Given the description of an element on the screen output the (x, y) to click on. 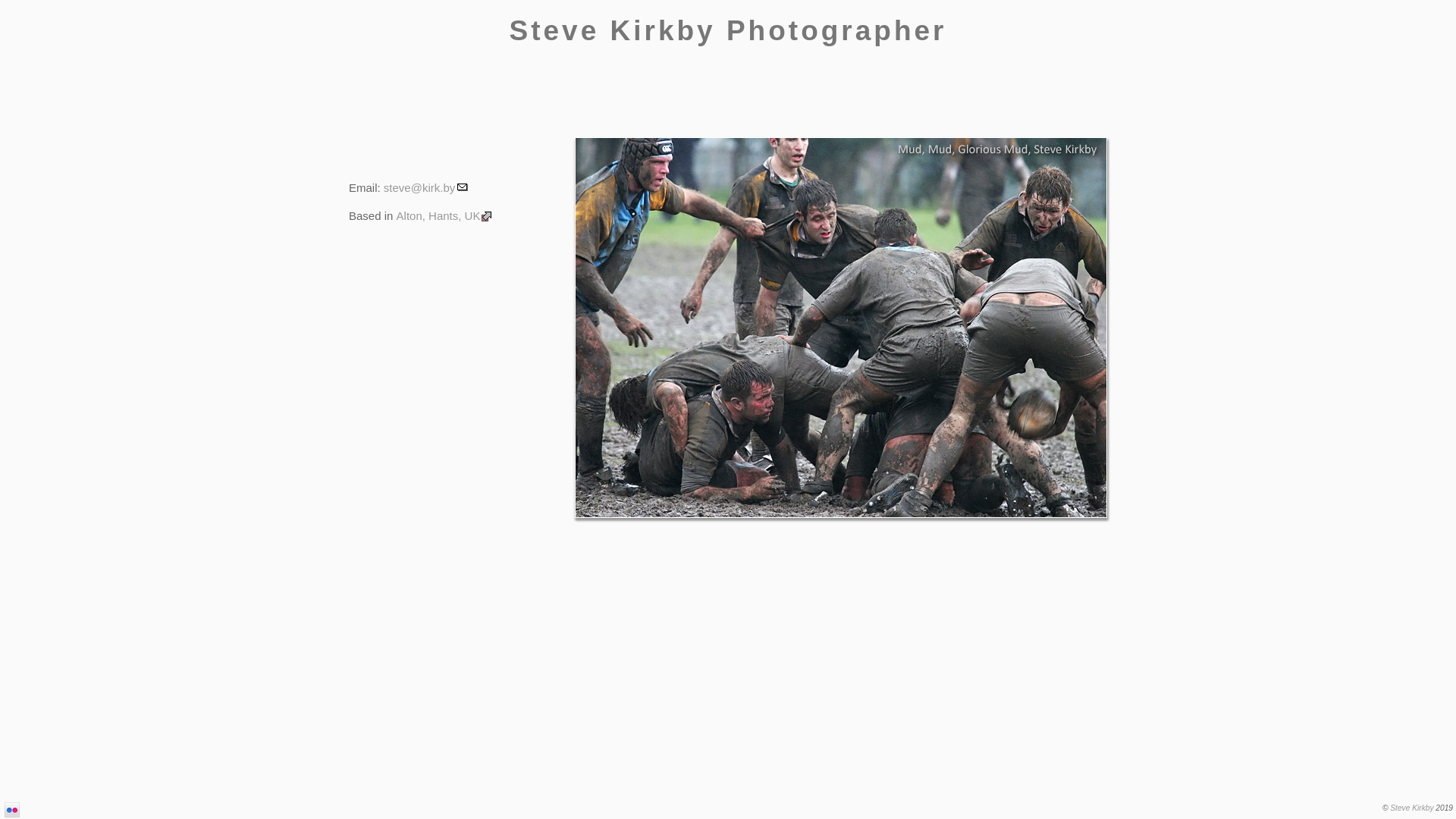
Steve Kirkby Photographer Element type: text (727, 30)
Steve Kirkby Element type: text (1411, 807)
steve@kirk.by Element type: text (425, 187)
Flickr Element type: hover (11, 809)
Alton, Hants, UK Element type: text (445, 215)
http://www.flickr.com/photos/sk28/ Element type: hover (11, 809)
